Given the description of an element on the screen output the (x, y) to click on. 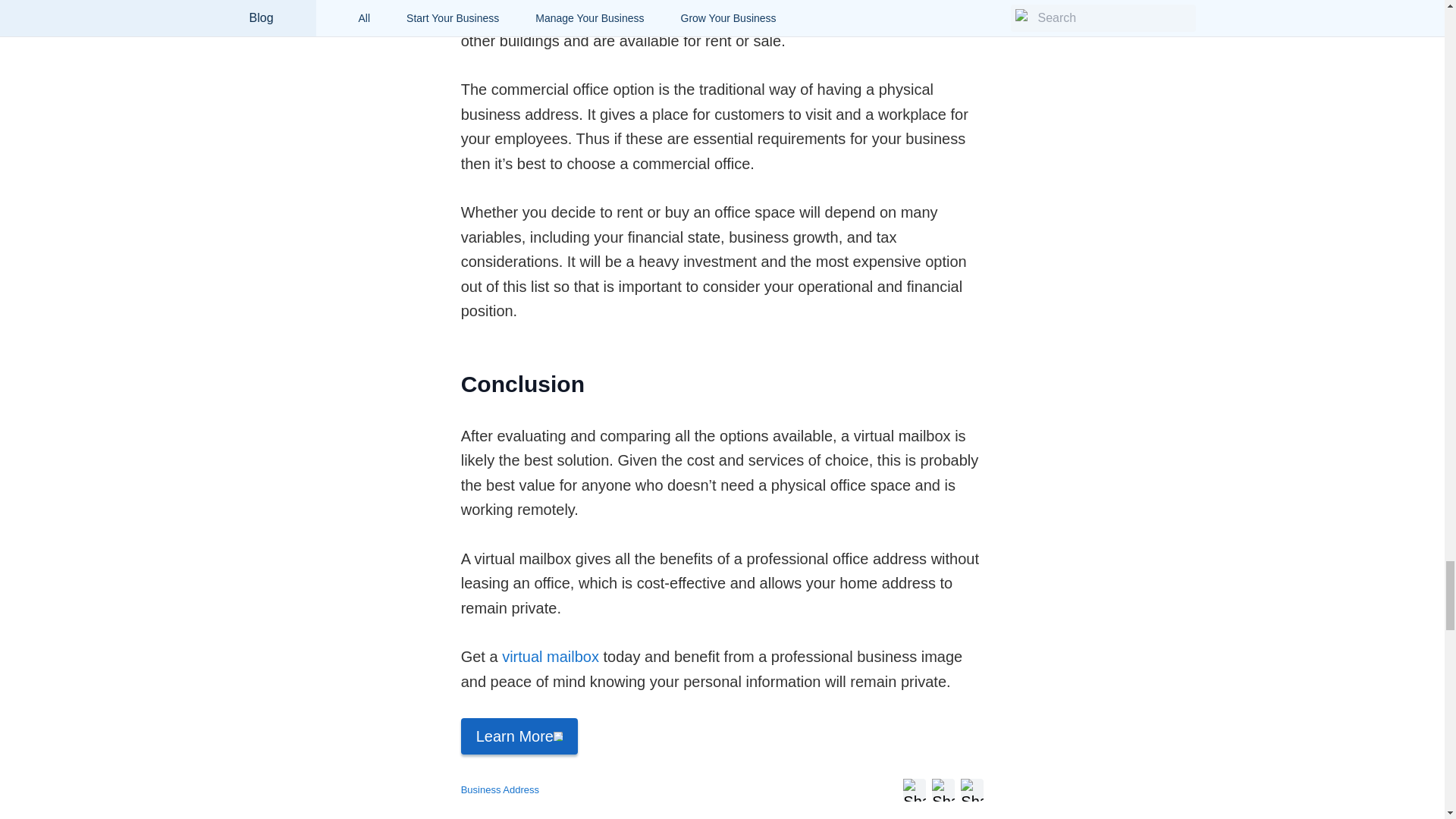
virtual mailbox (550, 656)
Business Address (499, 789)
Commercial offices (525, 15)
Learn More (519, 736)
